Given the description of an element on the screen output the (x, y) to click on. 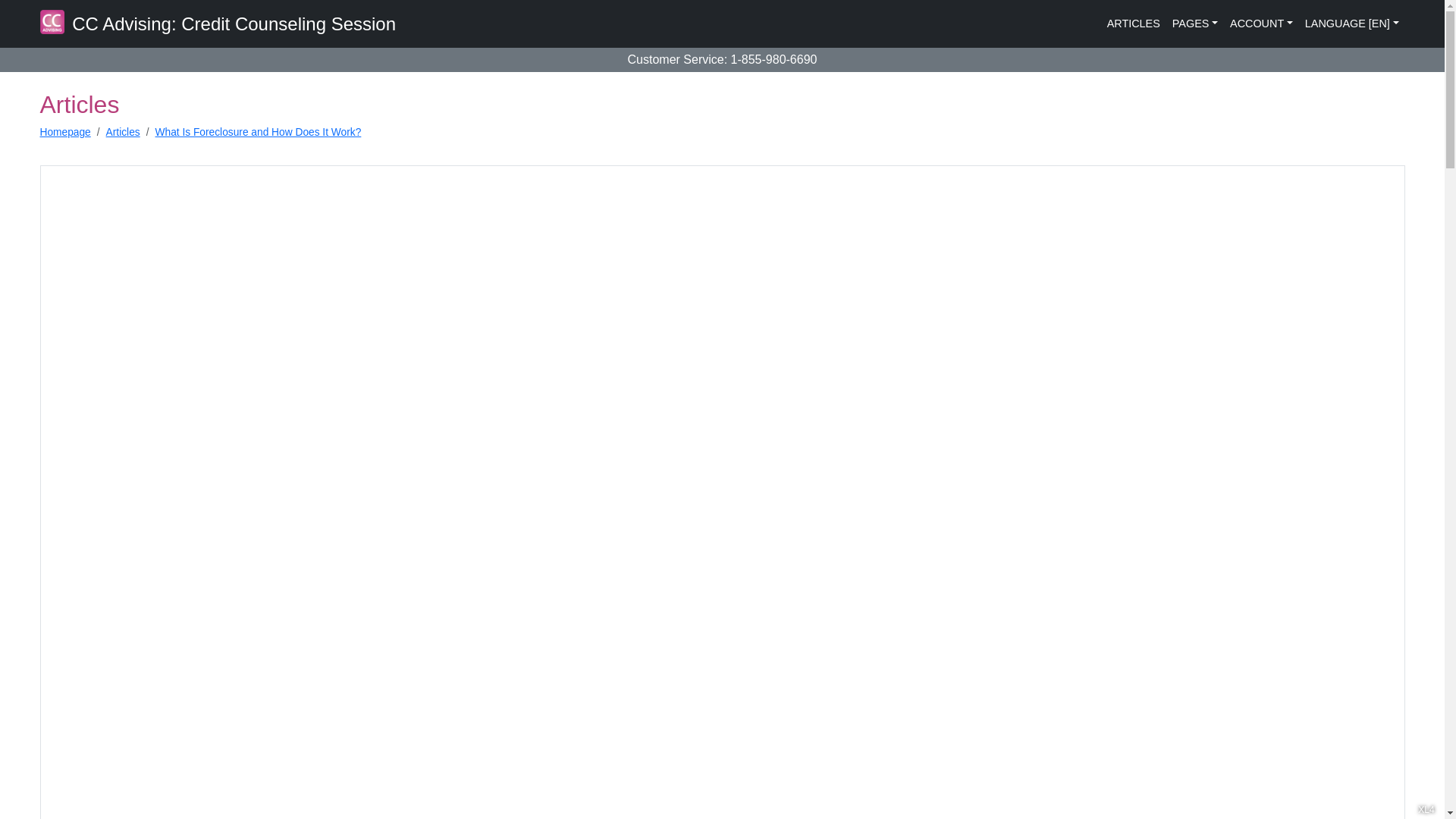
PAGES (1195, 23)
Articles (122, 132)
ACCOUNT (1261, 23)
What Is Foreclosure and How Does It Work? (258, 132)
Homepage (64, 132)
ARTICLES (1133, 23)
CC Advising: Credit Counseling Session (217, 23)
Customer Service: 1-855-980-6690 (725, 59)
